Given the description of an element on the screen output the (x, y) to click on. 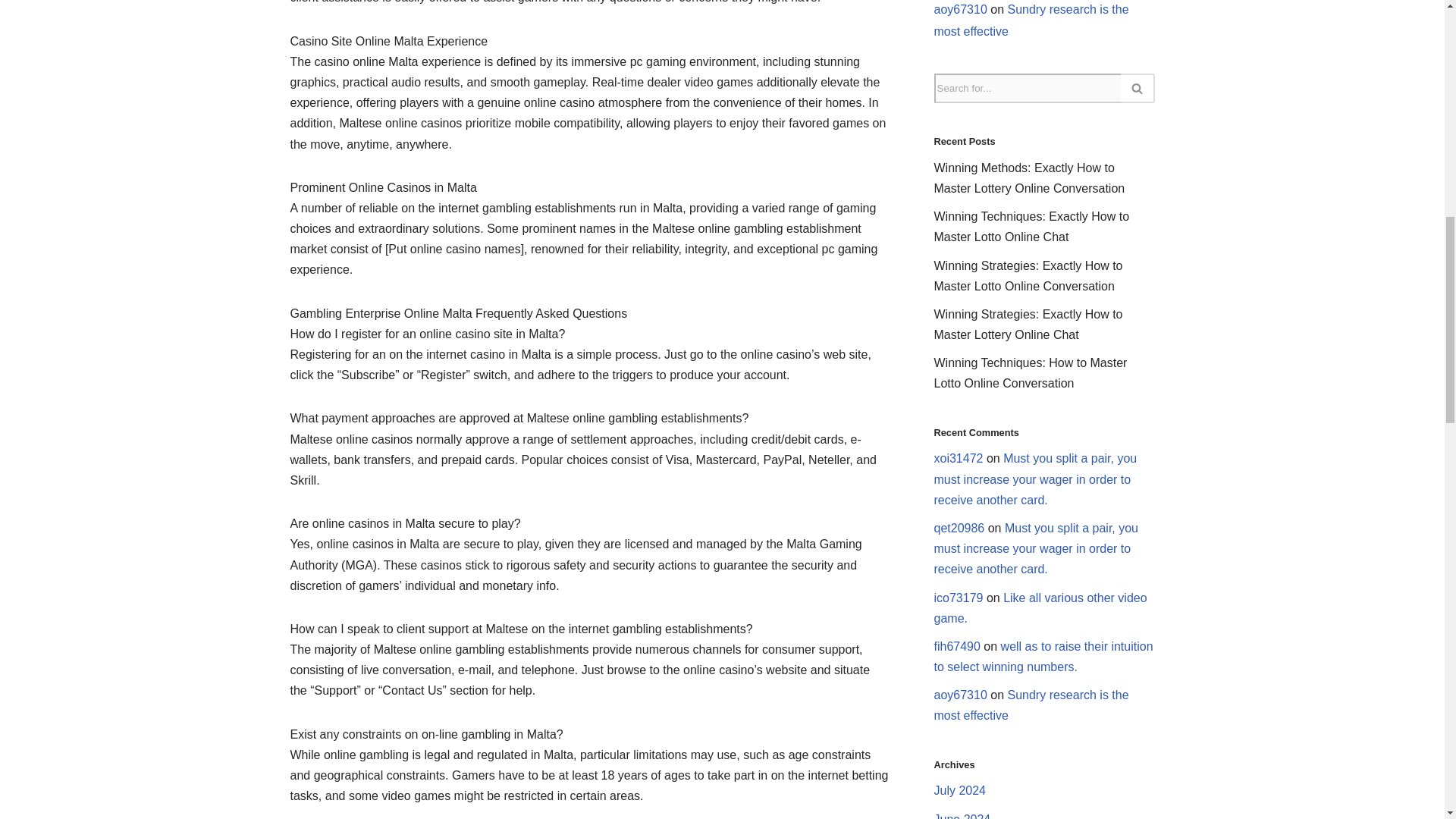
aoy67310 (960, 9)
Winning Techniques: Exactly How to Master Lotto Online Chat (1031, 226)
Sundry research is the most effective (1031, 20)
ico73179 (959, 597)
qet20986 (959, 527)
xoi31472 (959, 458)
Winning Techniques: How to Master Lotto Online Conversation (1030, 372)
